Given the description of an element on the screen output the (x, y) to click on. 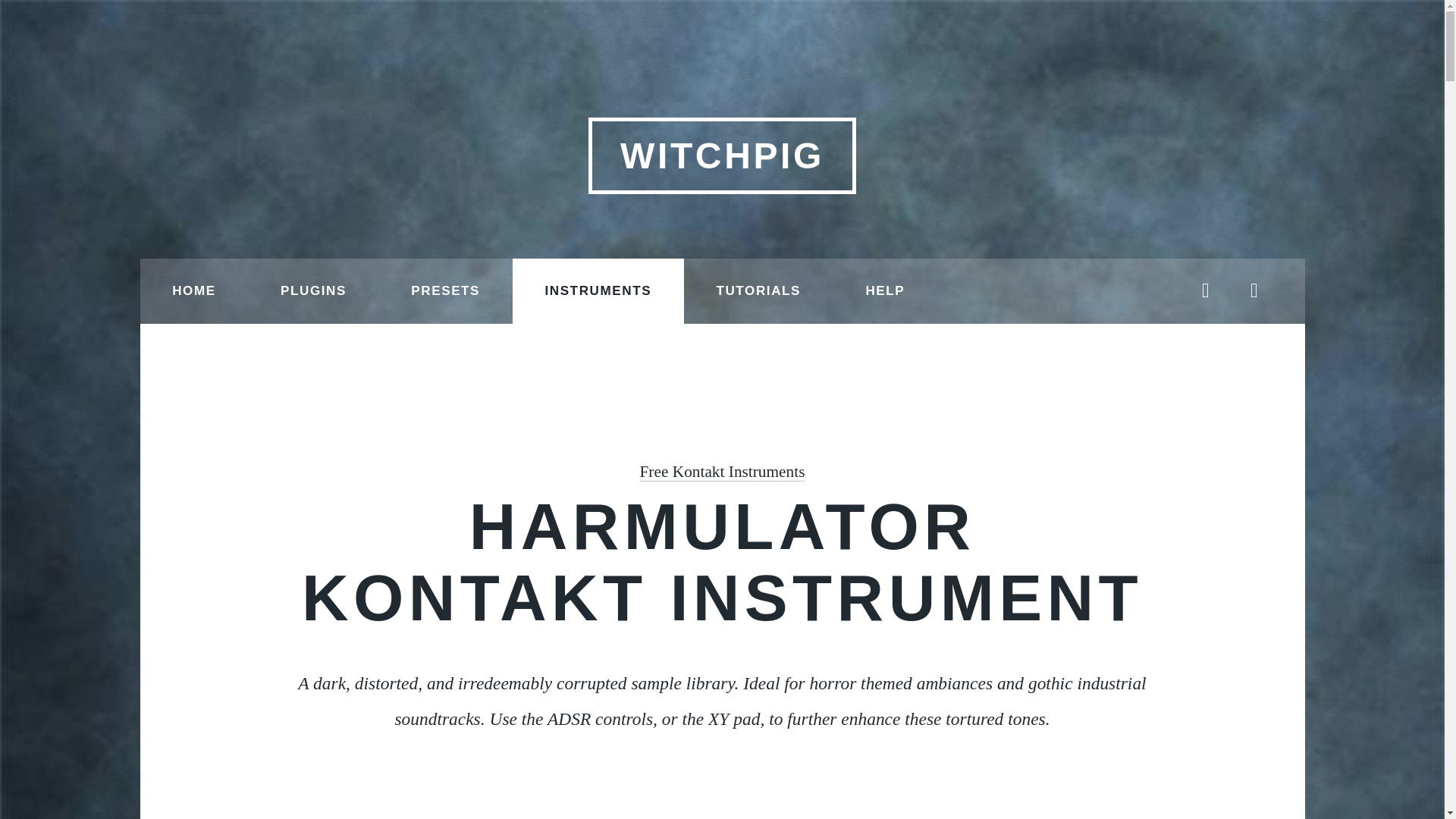
HELP (884, 290)
YouTube video player (721, 810)
INSTRUMENTS (598, 290)
TUTORIALS (758, 290)
PLUGINS (312, 290)
Free Kontakt Instruments (722, 471)
WITCHPIG (722, 155)
HOME (193, 290)
PRESETS (445, 290)
